Given the description of an element on the screen output the (x, y) to click on. 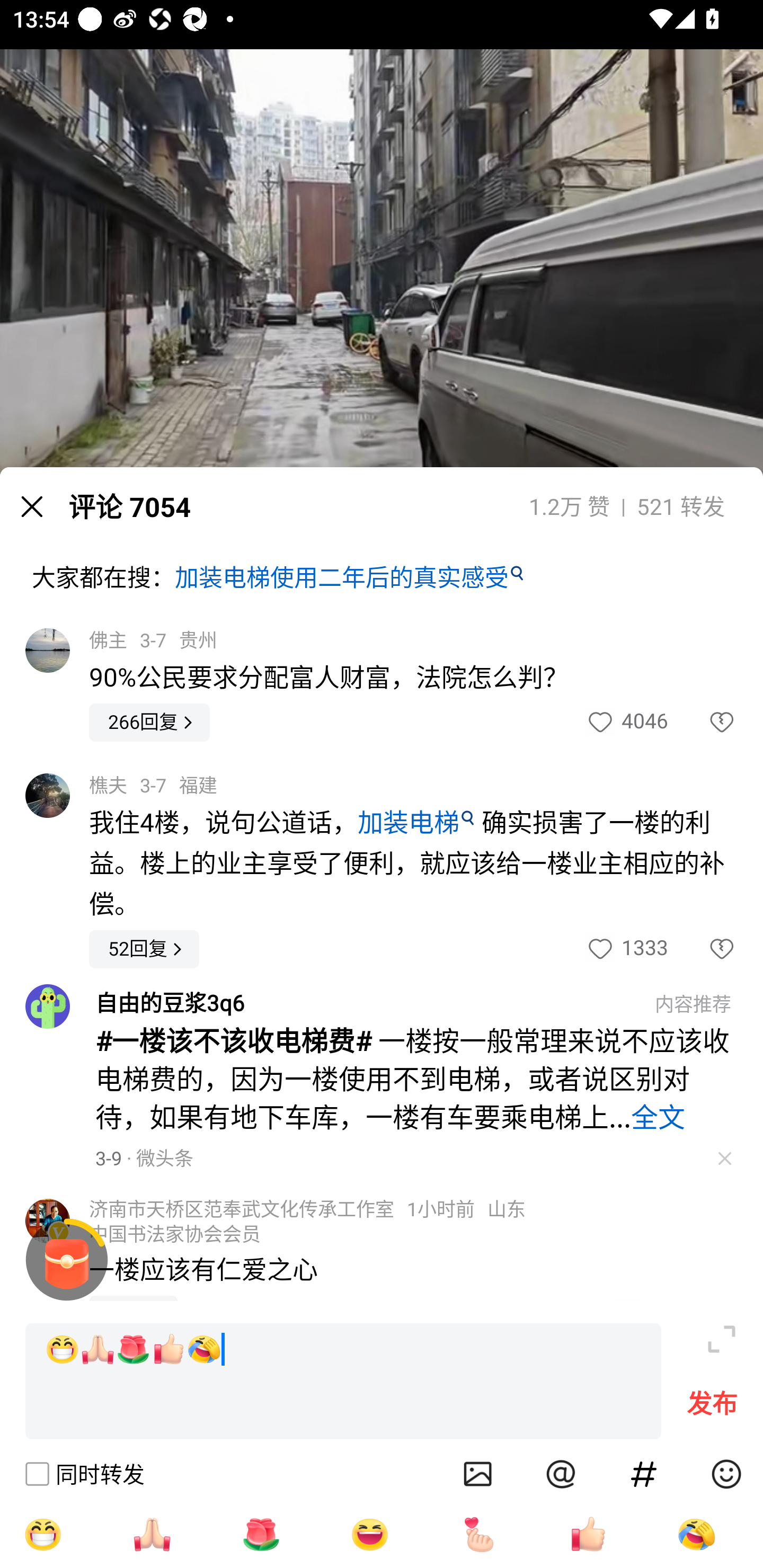
[呲牙][祈祷][玫瑰][赞][捂脸] (343, 1381)
全屏编辑 (721, 1338)
发布 (711, 1407)
同时转发 (83, 1473)
相册 (478, 1473)
at (560, 1473)
话题 (643, 1473)
表情 (726, 1473)
[呲牙] (42, 1534)
[祈祷] (152, 1534)
[玫瑰] (261, 1534)
[大笑] (369, 1534)
[比心] (478, 1534)
[赞] (588, 1534)
[捂脸] (696, 1534)
